Given the description of an element on the screen output the (x, y) to click on. 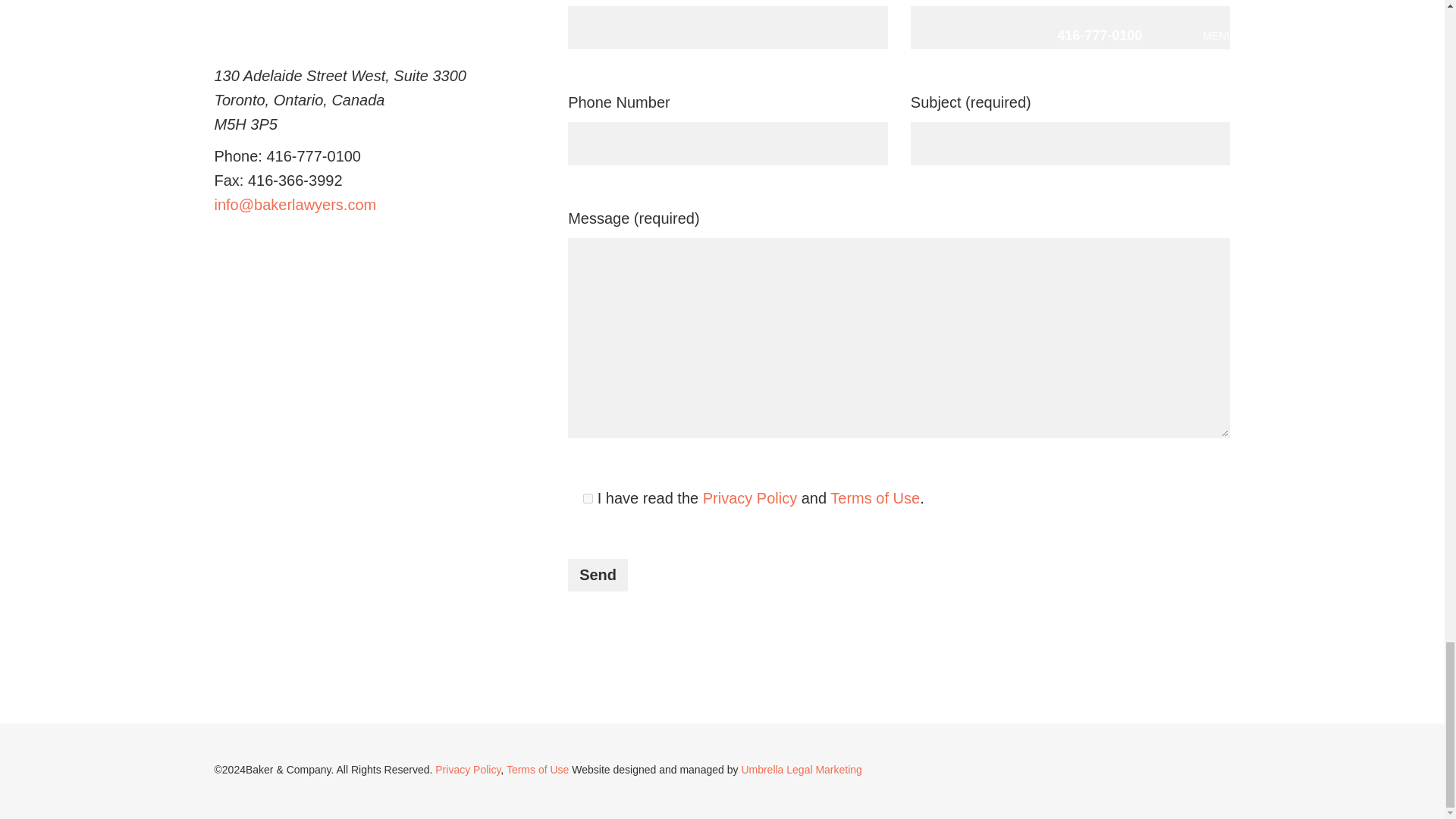
Send (597, 574)
Privacy Policy (749, 497)
1 (587, 498)
Terms of Use (874, 497)
Send (597, 574)
